Given the description of an element on the screen output the (x, y) to click on. 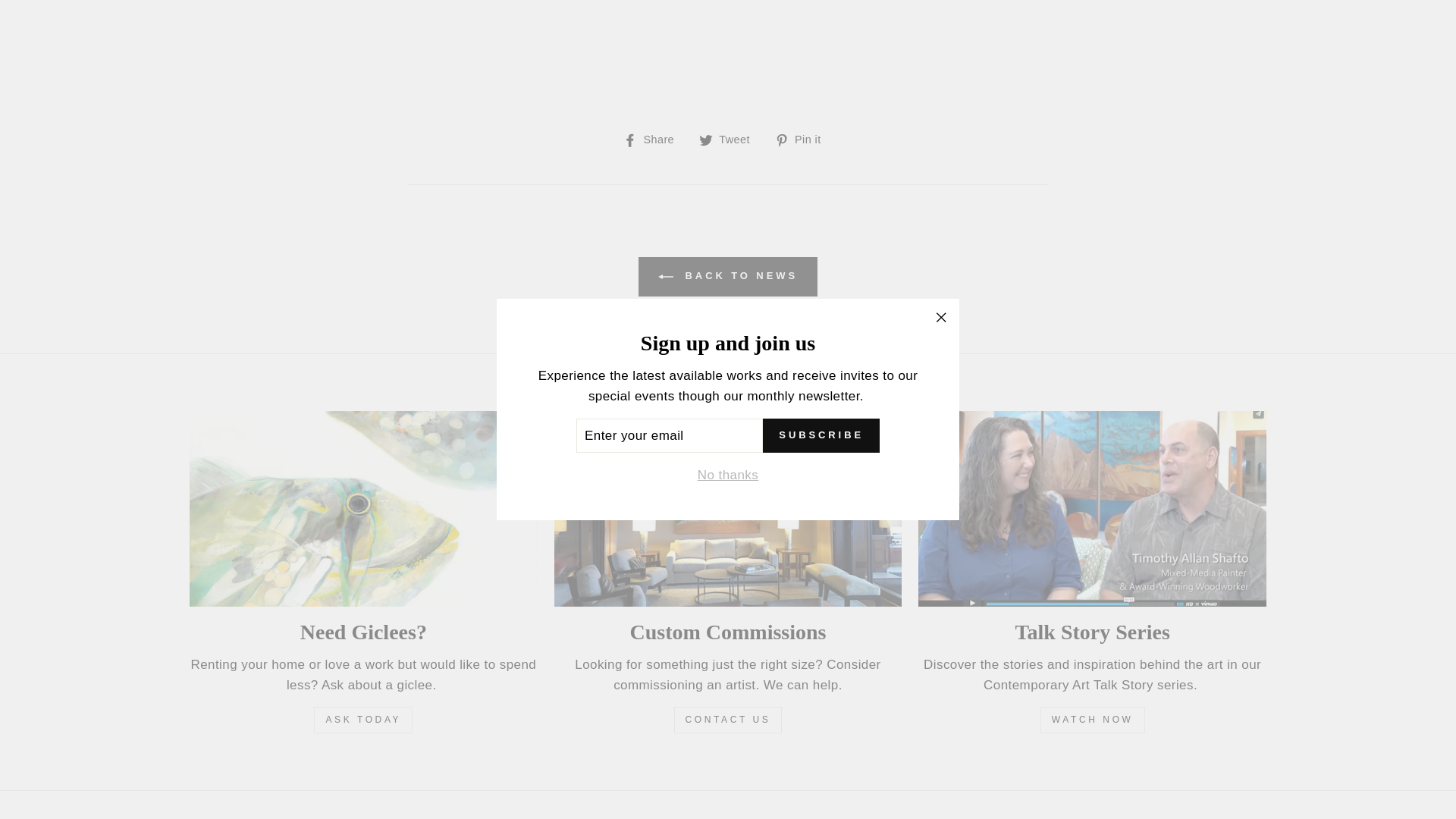
vimeo-player (726, 47)
